Given the description of an element on the screen output the (x, y) to click on. 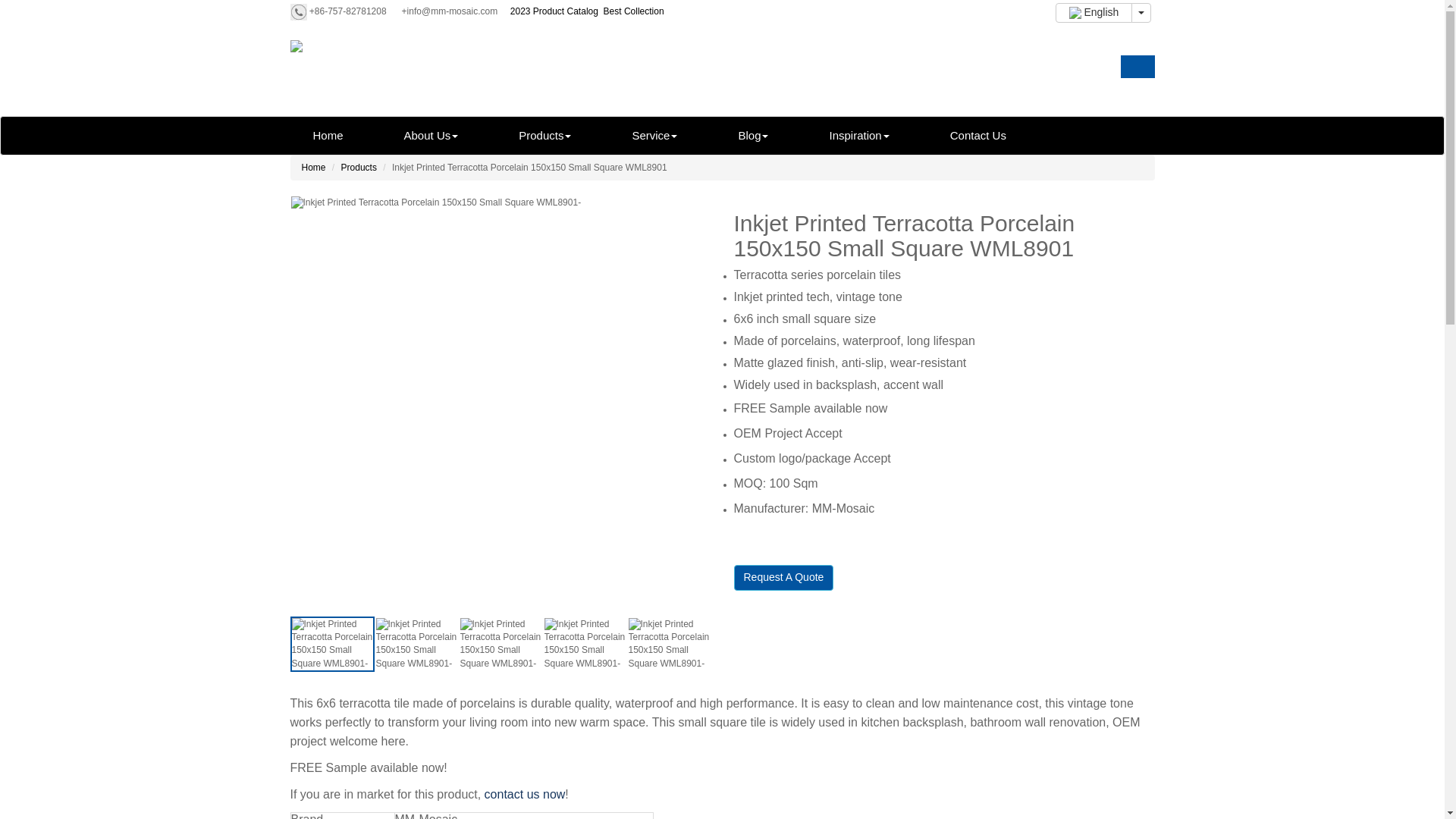
English (1093, 12)
2023 Product Catalog (554, 10)
Home (328, 135)
Best Collection (633, 10)
Products (544, 135)
About Us (431, 135)
